Given the description of an element on the screen output the (x, y) to click on. 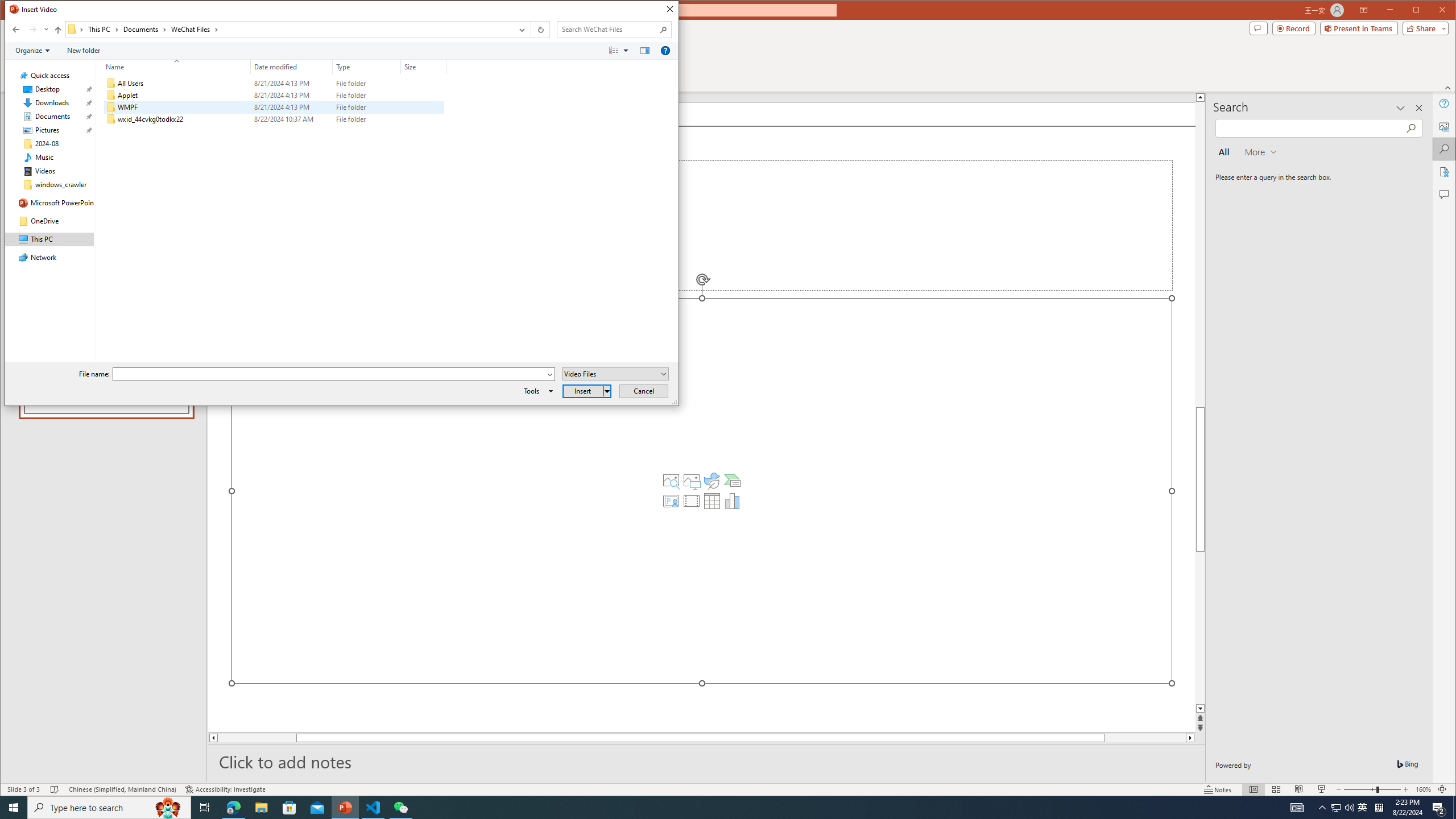
Files of type: (615, 373)
Filter dropdown (440, 66)
Name (173, 66)
Type (366, 119)
Tools (536, 390)
&Help (665, 50)
Microsoft Edge - 1 running window (233, 807)
View Slider (626, 50)
WeChat - 1 running window (400, 807)
